Given the description of an element on the screen output the (x, y) to click on. 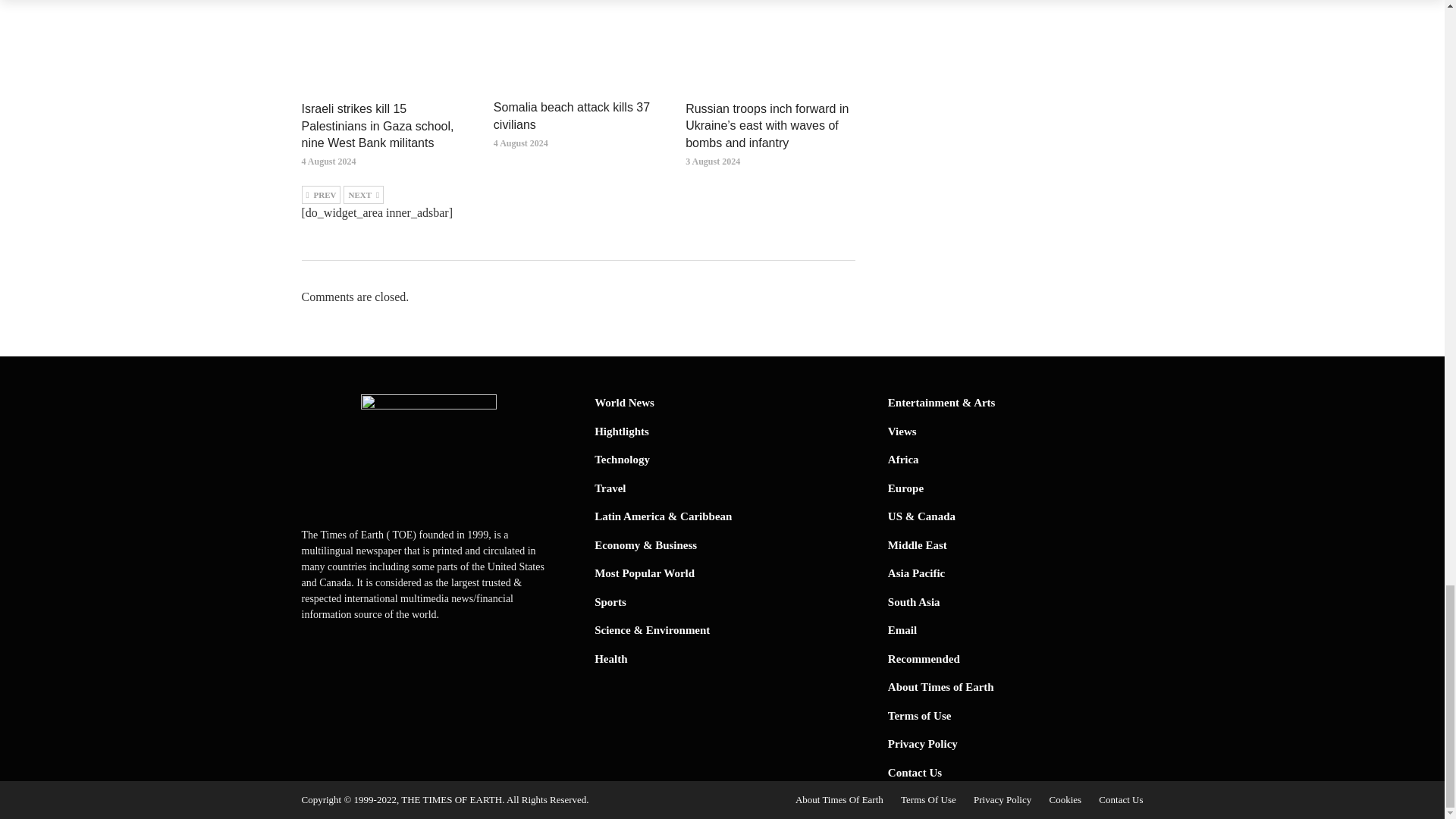
Next (363, 194)
Previous (320, 194)
